Given the description of an element on the screen output the (x, y) to click on. 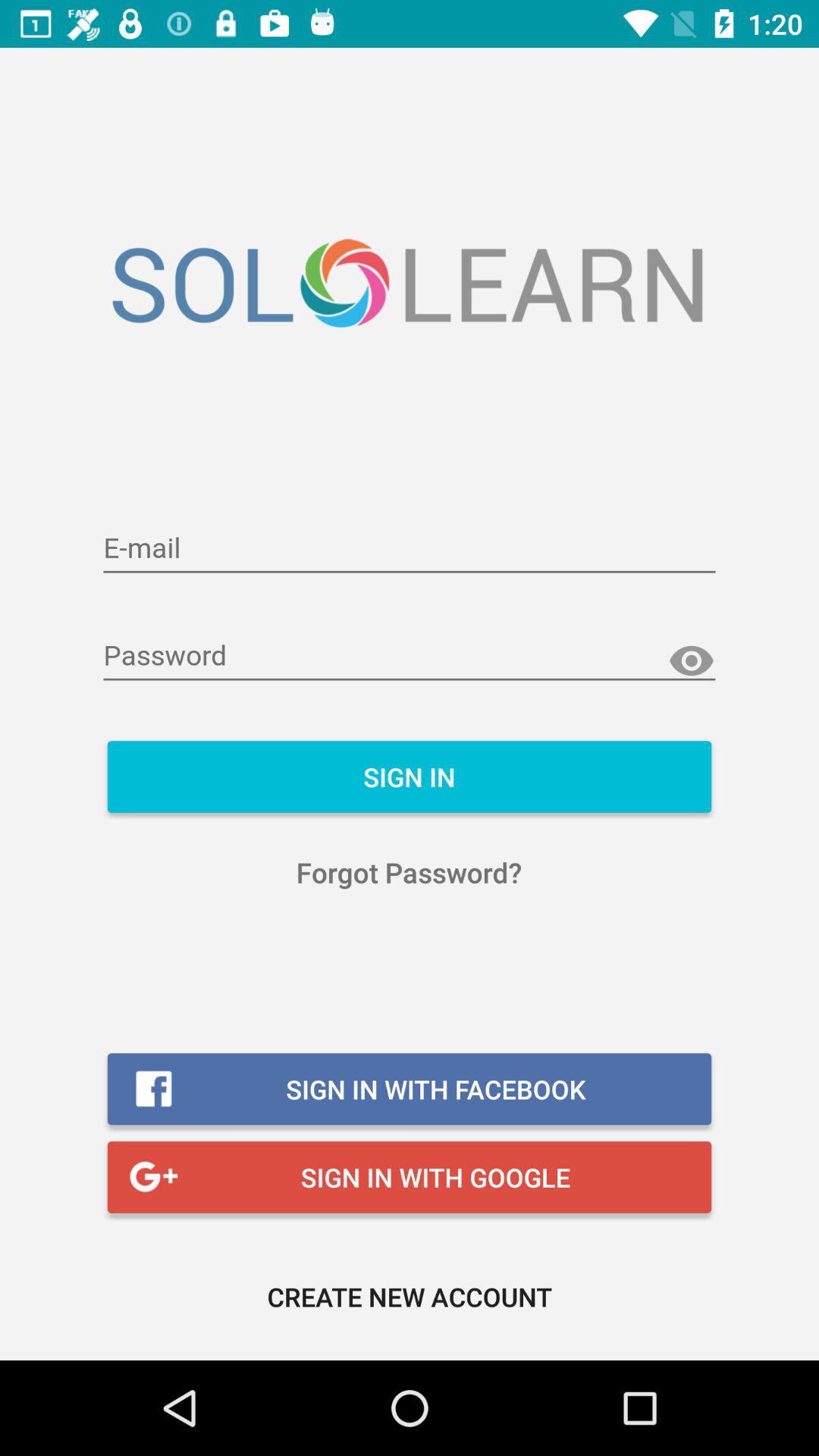
introduce email (409, 548)
